Given the description of an element on the screen output the (x, y) to click on. 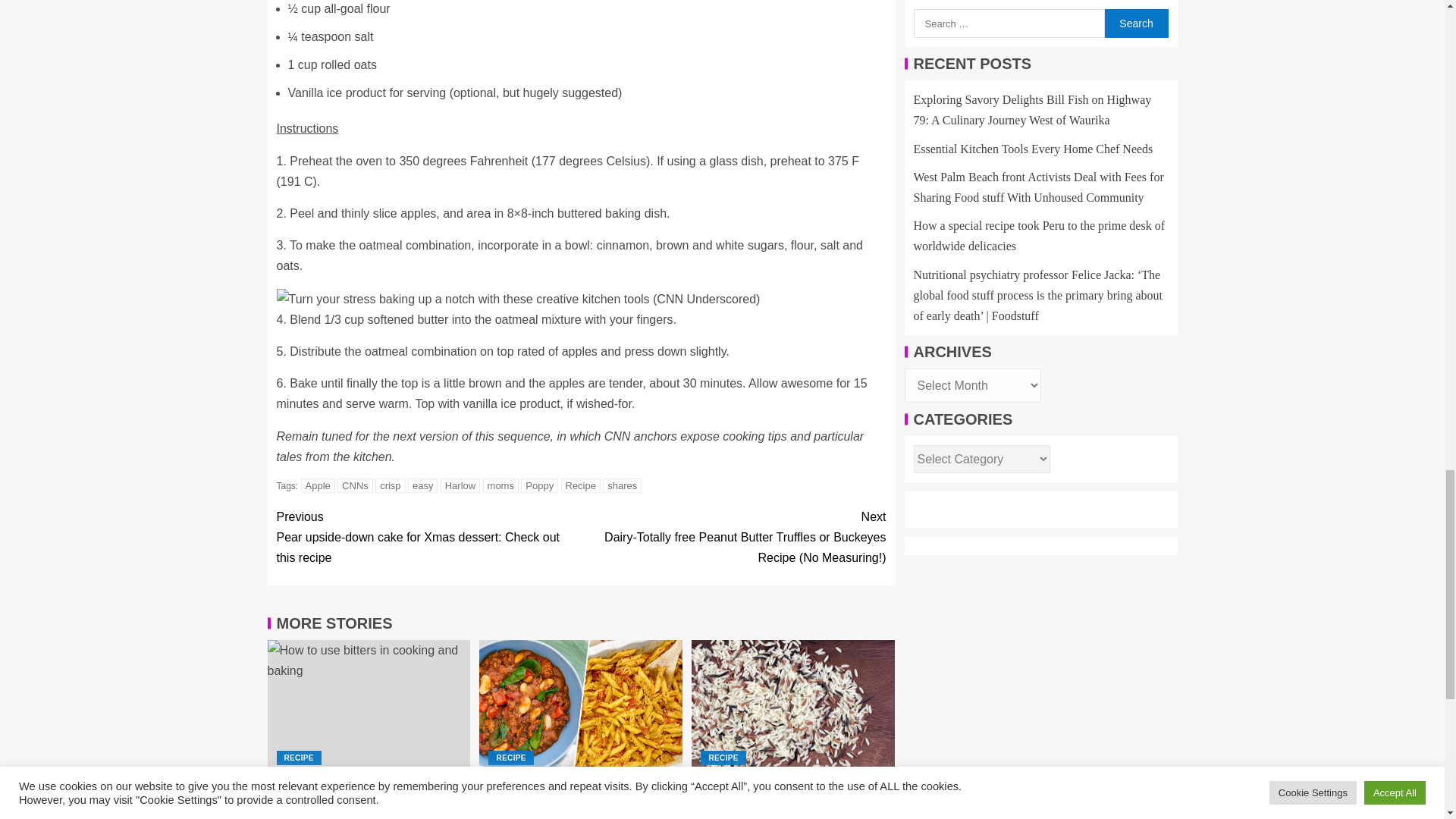
Poppy (539, 485)
Harlow (460, 485)
easy (422, 485)
moms (500, 485)
Recipe (579, 485)
CNNs (354, 485)
RECIPE (509, 757)
How to use bitters in cooking and baking (368, 706)
crisp (389, 485)
